Given the description of an element on the screen output the (x, y) to click on. 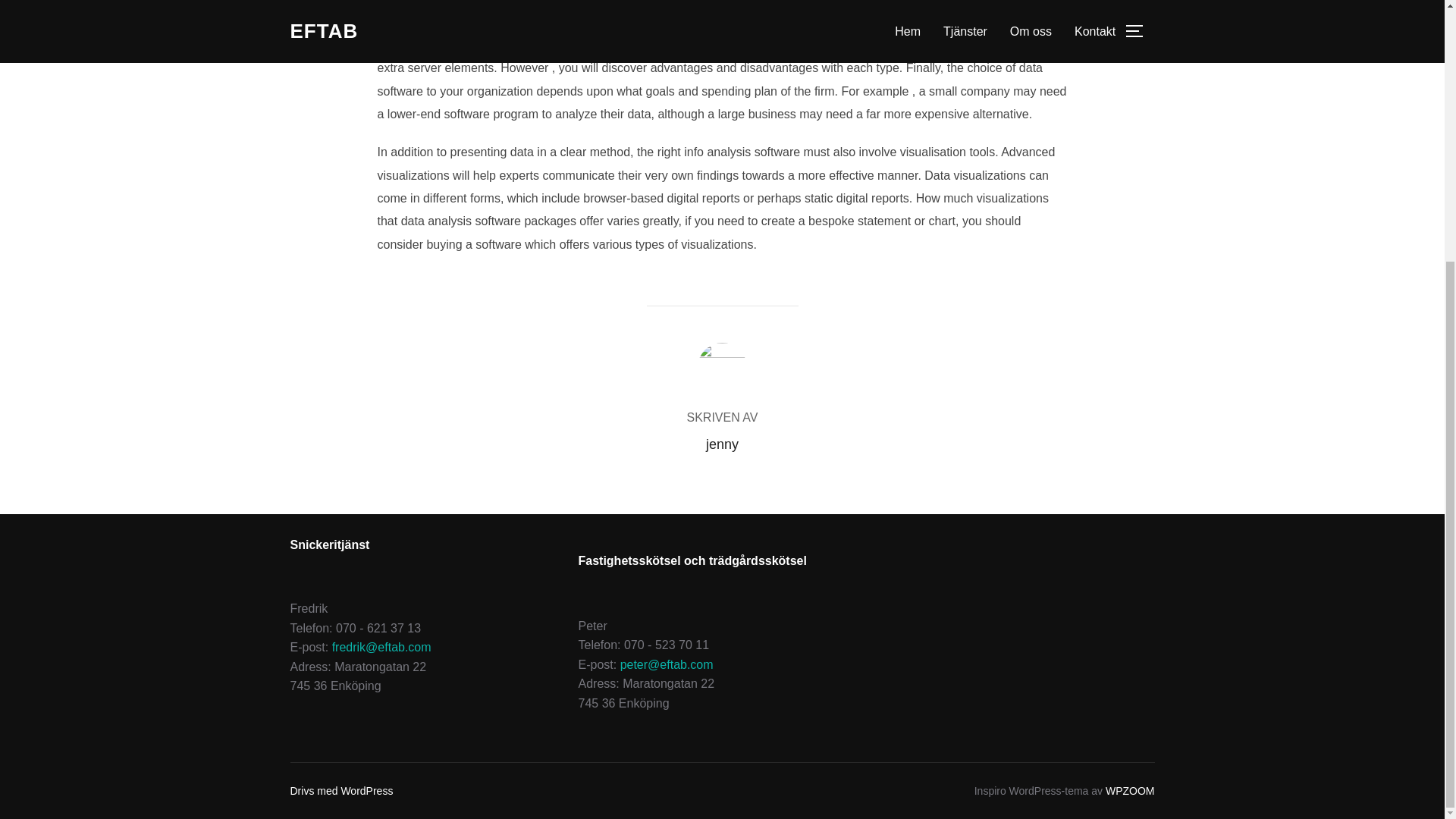
jenny (722, 444)
Drivs med WordPress (341, 790)
WPZOOM (1129, 790)
